Given the description of an element on the screen output the (x, y) to click on. 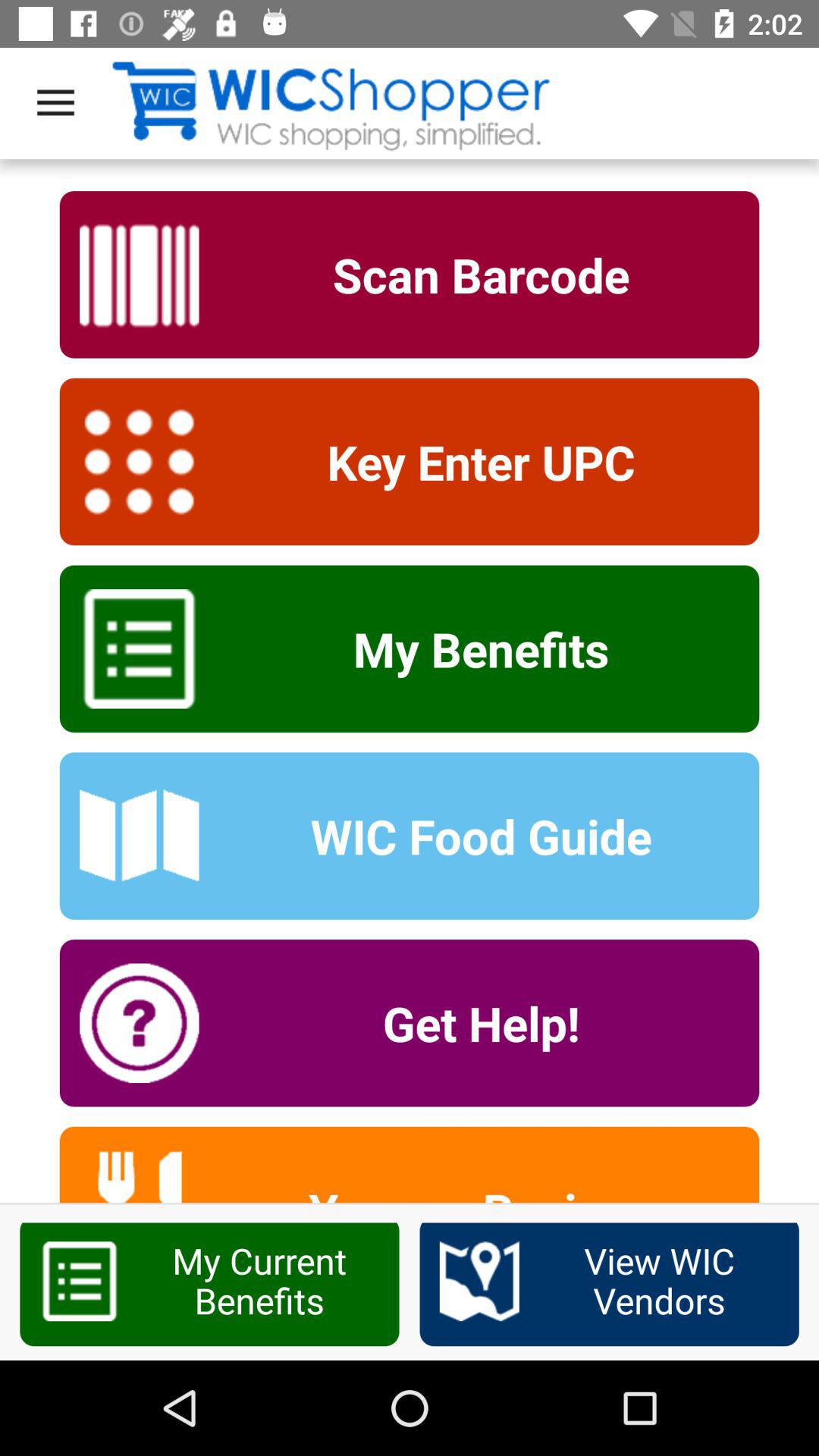
flip until the scan barcode (471, 274)
